Given the description of an element on the screen output the (x, y) to click on. 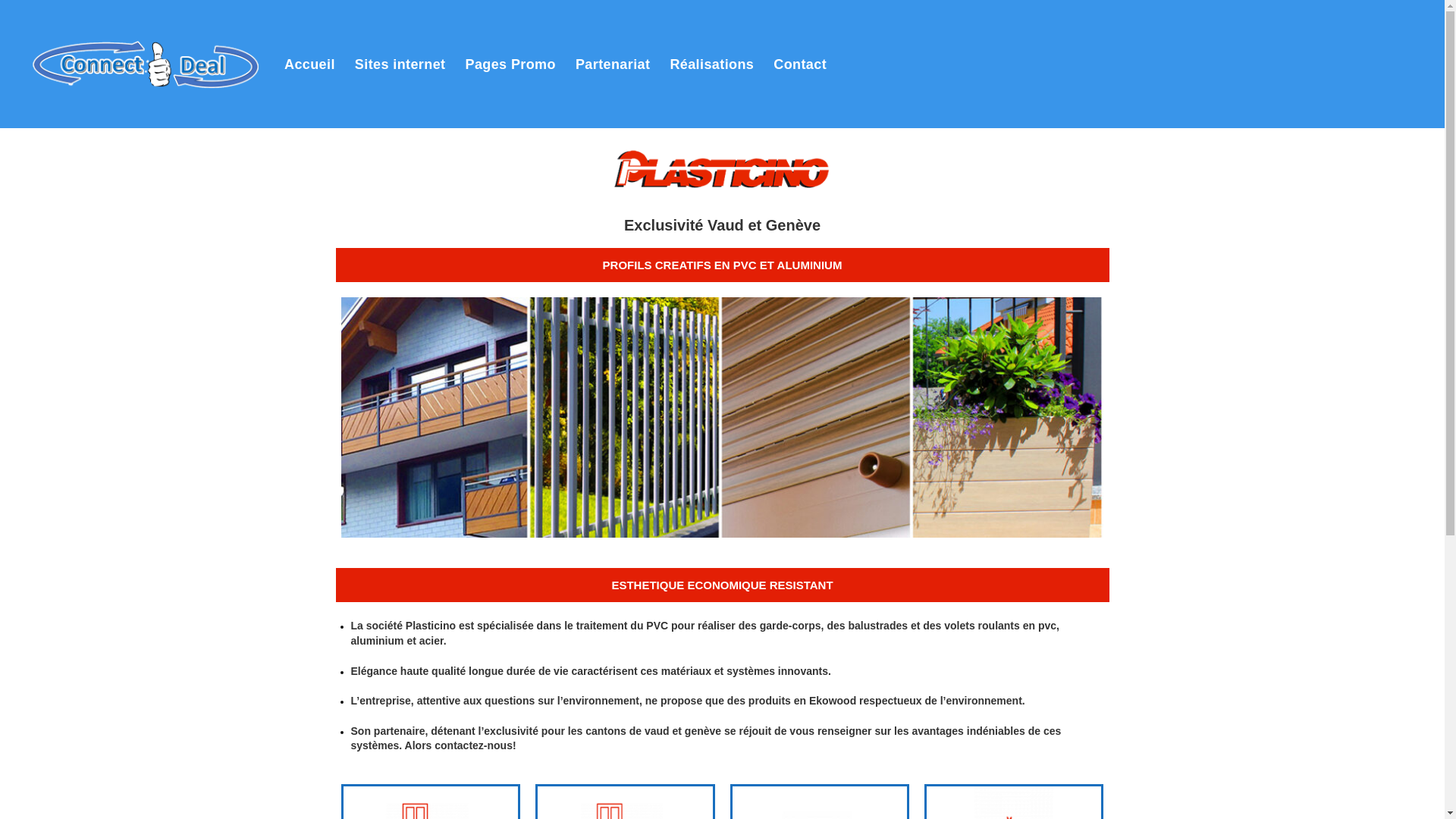
Accueil Element type: text (309, 64)
Pages Promo Element type: text (509, 64)
Sites internet Element type: text (400, 64)
Contact Element type: text (799, 64)
Partenariat Element type: text (612, 64)
